Given the description of an element on the screen output the (x, y) to click on. 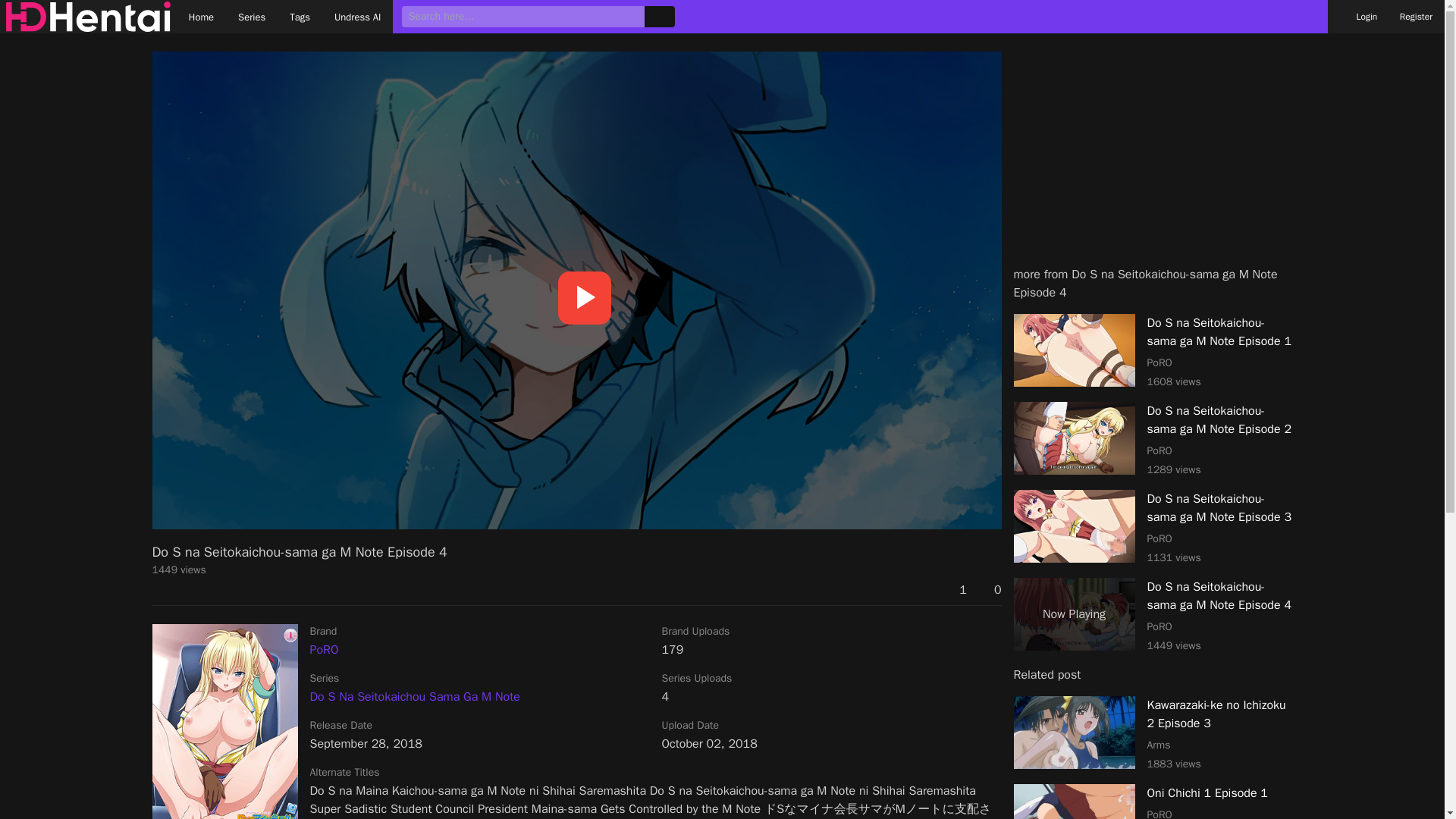
Do S na Seitokaichou-sama ga M Note Episode 4 1 (224, 721)
Home (201, 16)
0 (989, 589)
Undress AI (357, 16)
1 (1152, 734)
Series (954, 589)
Do S Na Seitokaichou Sama Ga M Note (251, 16)
Register (1152, 801)
Login (413, 696)
